Given the description of an element on the screen output the (x, y) to click on. 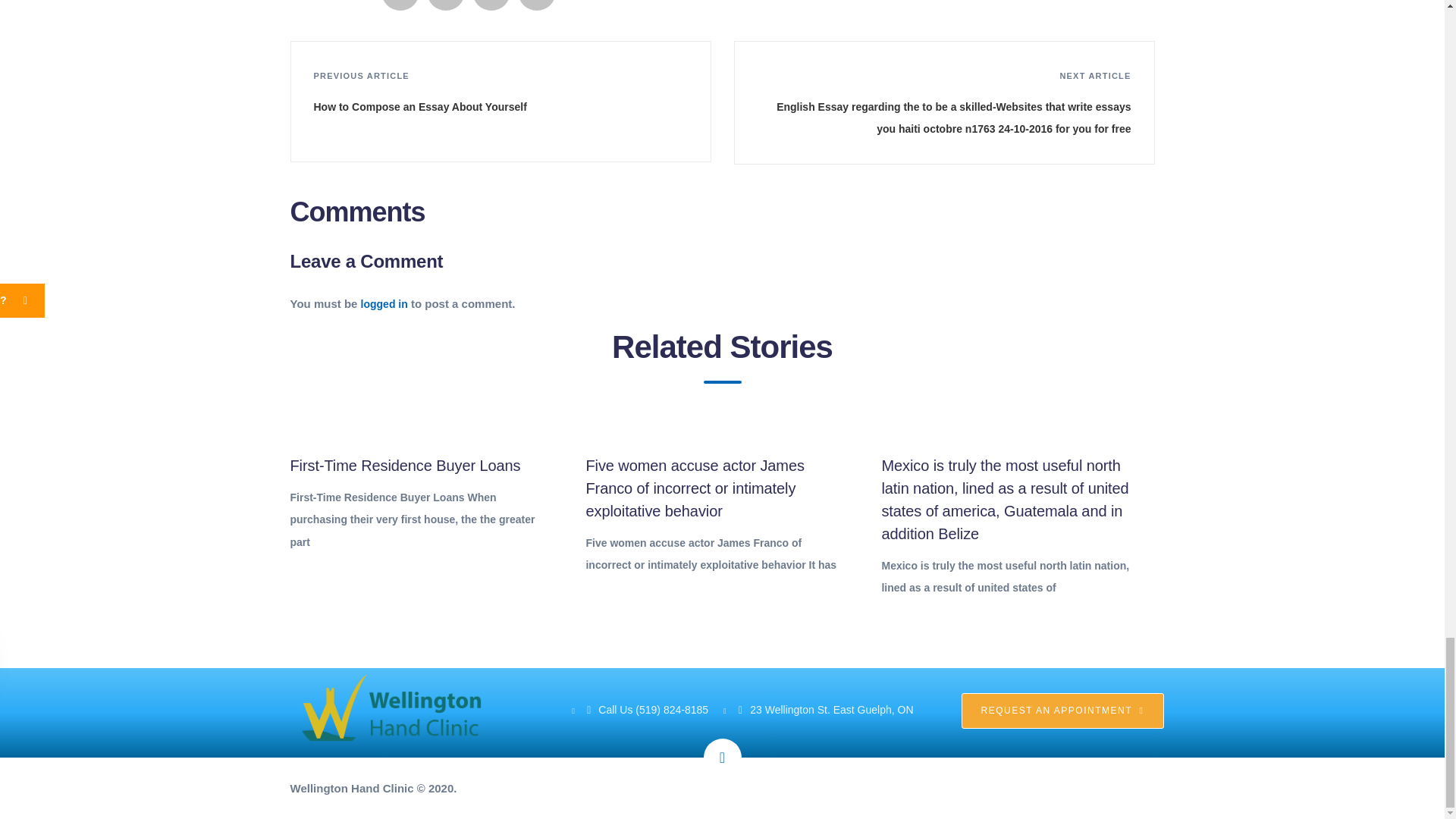
First-Time Residence Buyer Loans (404, 465)
